Given the description of an element on the screen output the (x, y) to click on. 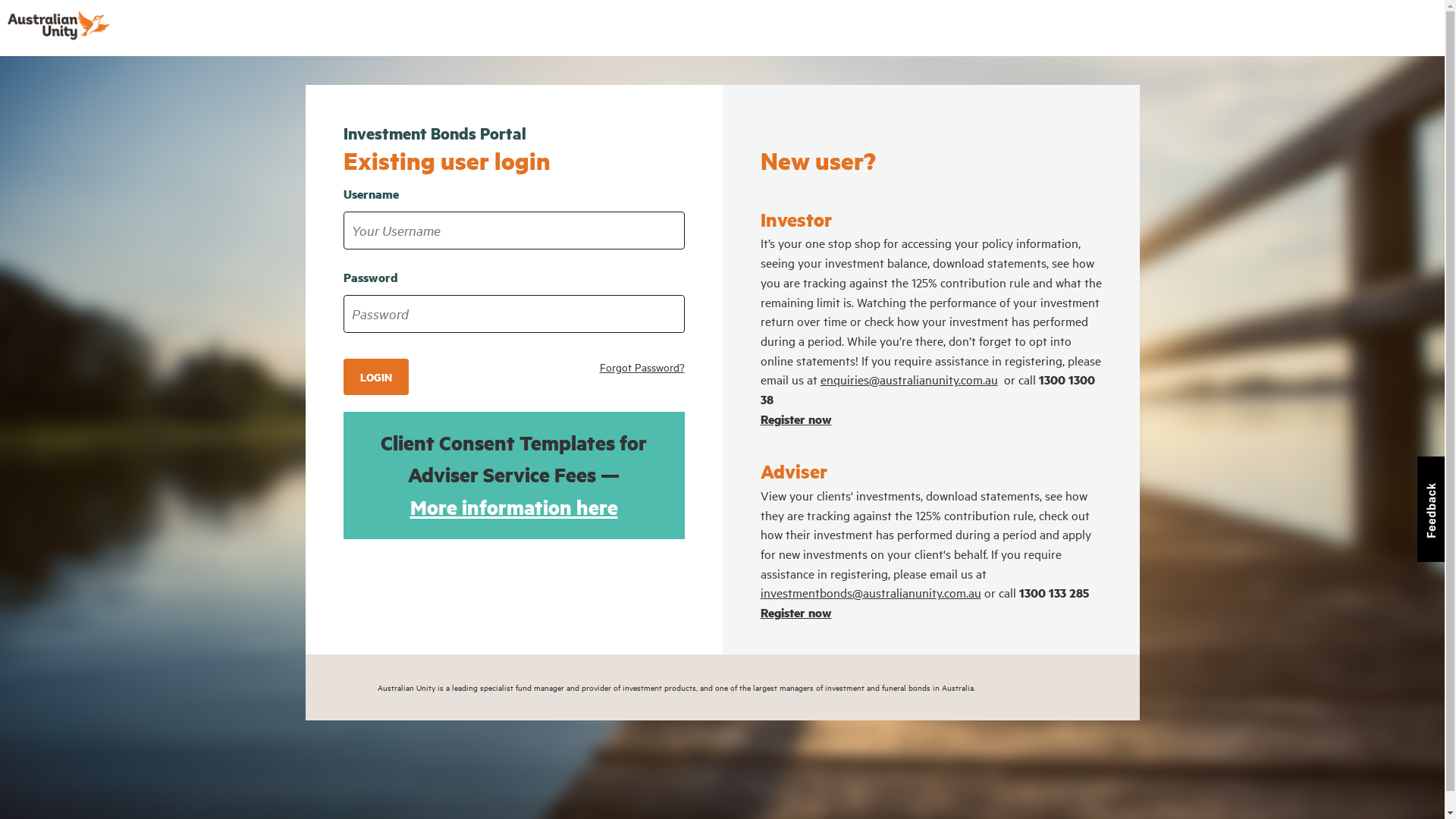
More information here Element type: text (513, 507)
Forgot Password? Element type: text (641, 366)
Register now Element type: text (795, 418)
enquiries@australianunity.com.au Element type: text (908, 378)
investmentbonds@australianunity.com.au Element type: text (869, 591)
LOGIN Element type: text (374, 376)
Register now Element type: text (795, 612)
